Given the description of an element on the screen output the (x, y) to click on. 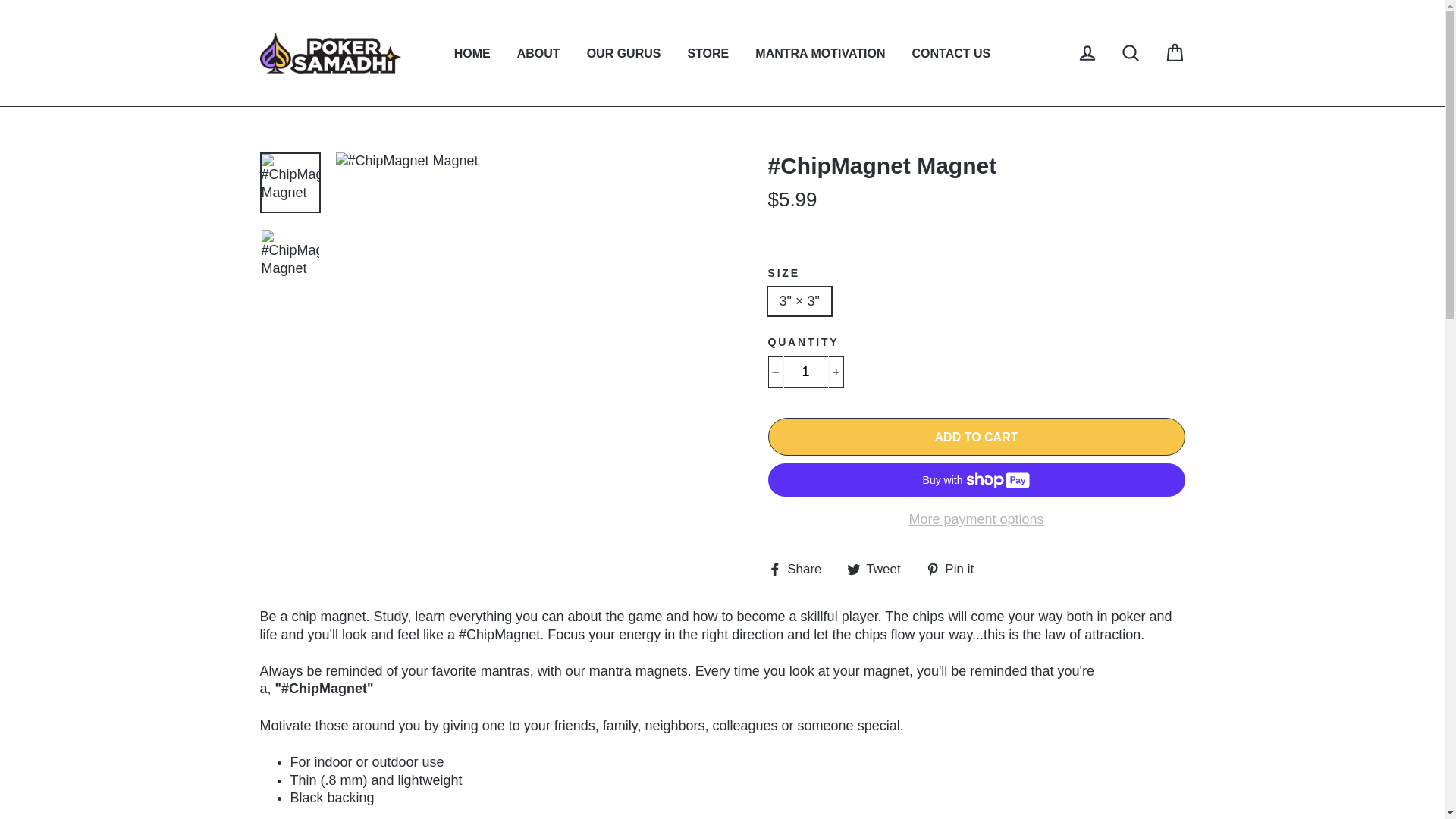
Pin on Pinterest (955, 569)
Share on Facebook (799, 569)
Tweet on Twitter (879, 569)
1 (805, 371)
